Given the description of an element on the screen output the (x, y) to click on. 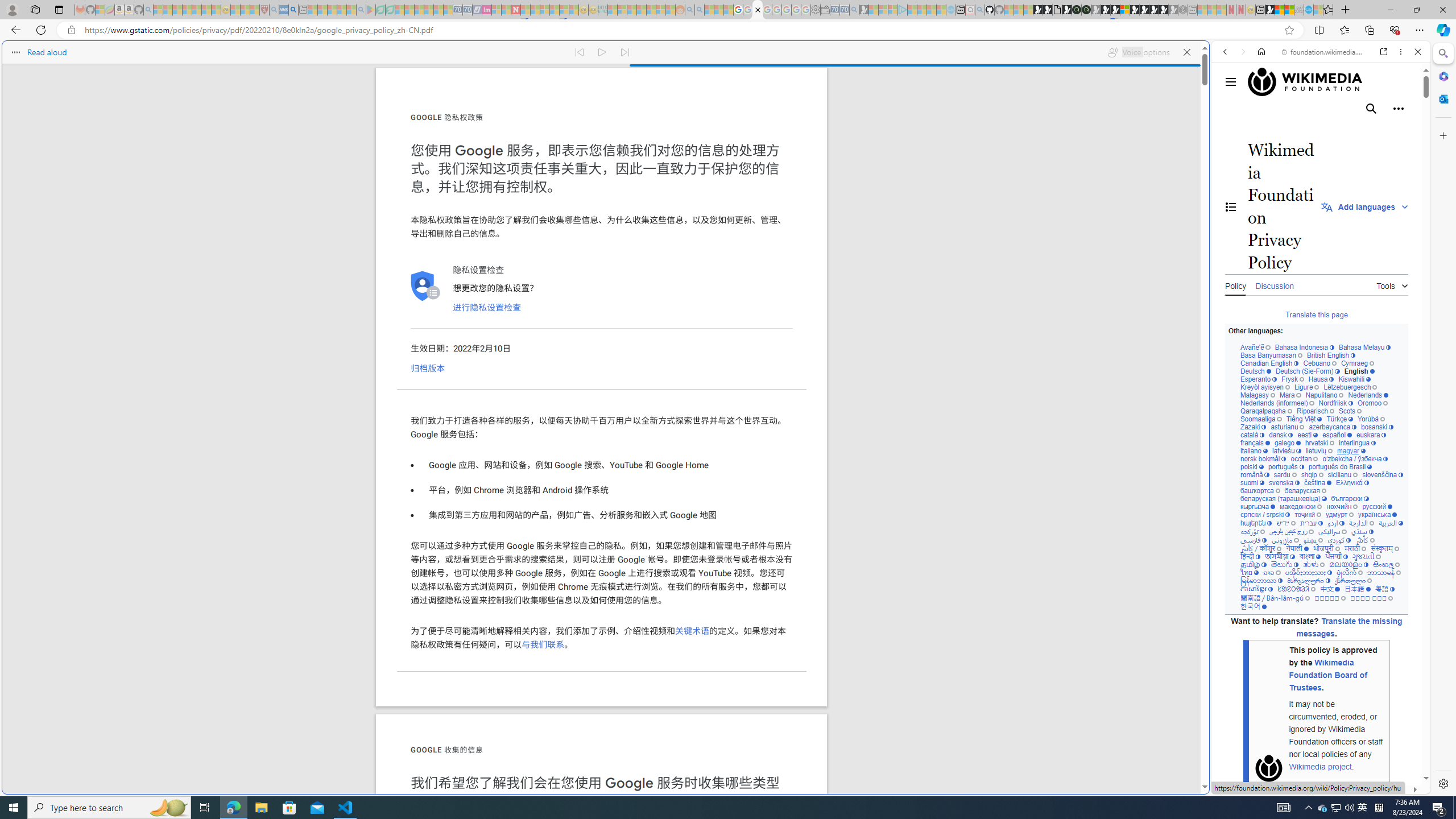
hrvatski (1319, 442)
Policy (1235, 284)
Esperanto (1258, 379)
